Given the description of an element on the screen output the (x, y) to click on. 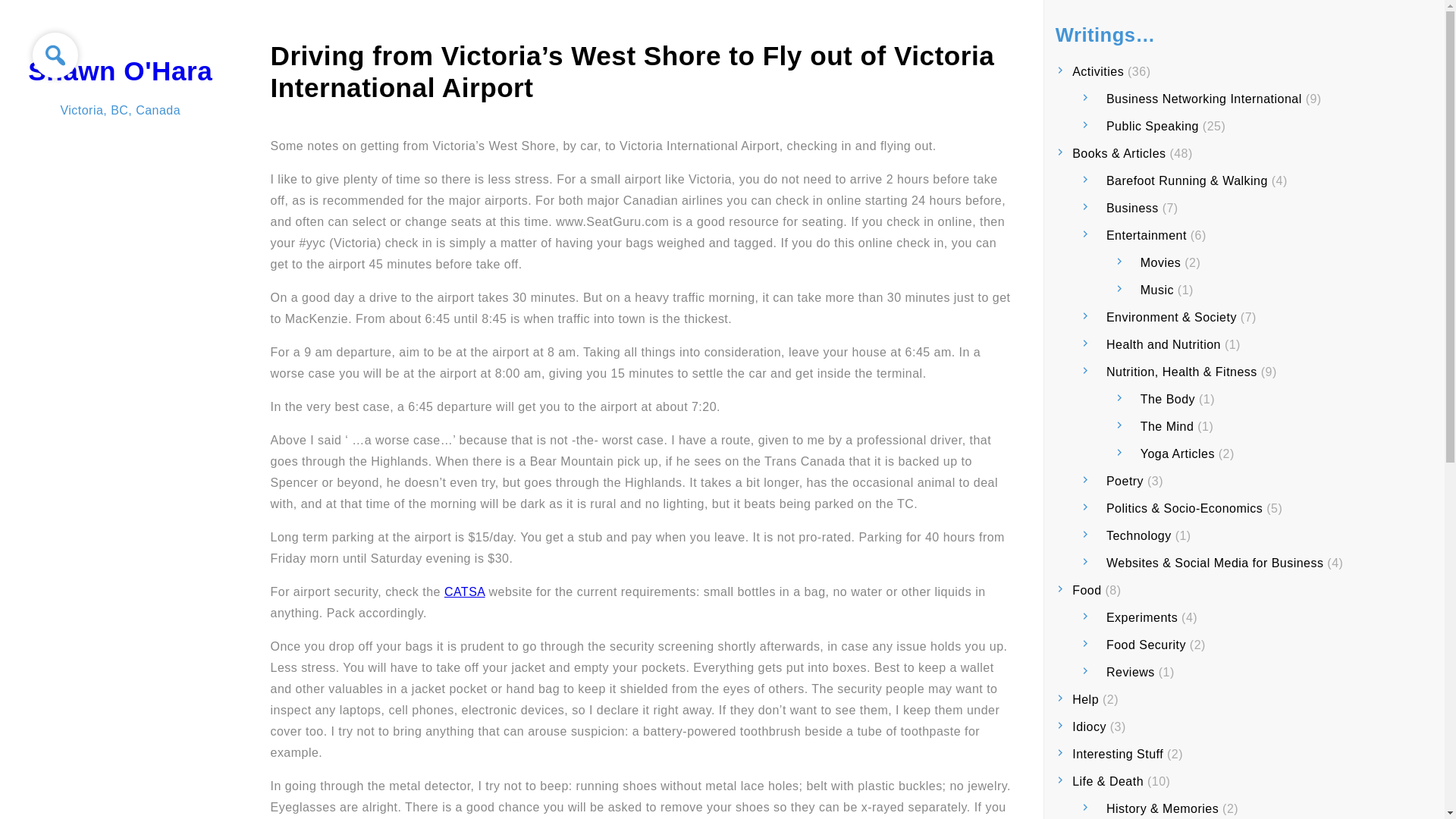
Business Networking International (1203, 98)
Movies (1160, 262)
Health and Nutrition (1163, 344)
Entertainment (1146, 235)
Technology (1139, 535)
CATSA (464, 591)
Music (1156, 289)
Food Security (1146, 644)
CATSA (464, 591)
Reviews (1130, 671)
